Given the description of an element on the screen output the (x, y) to click on. 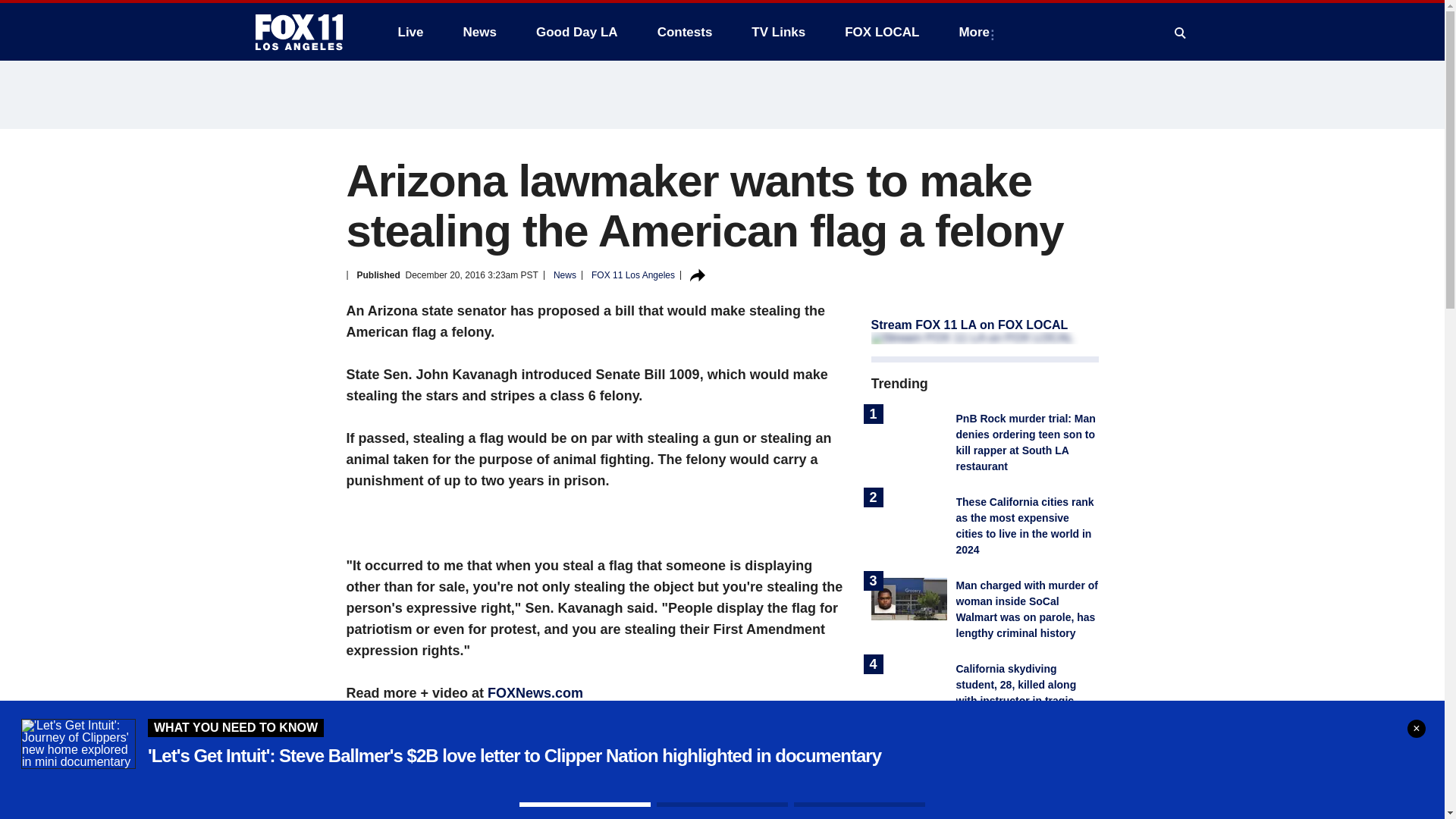
Good Day LA (577, 32)
Contests (685, 32)
FOX LOCAL (881, 32)
News (479, 32)
Live (410, 32)
More (976, 32)
TV Links (777, 32)
